Given the description of an element on the screen output the (x, y) to click on. 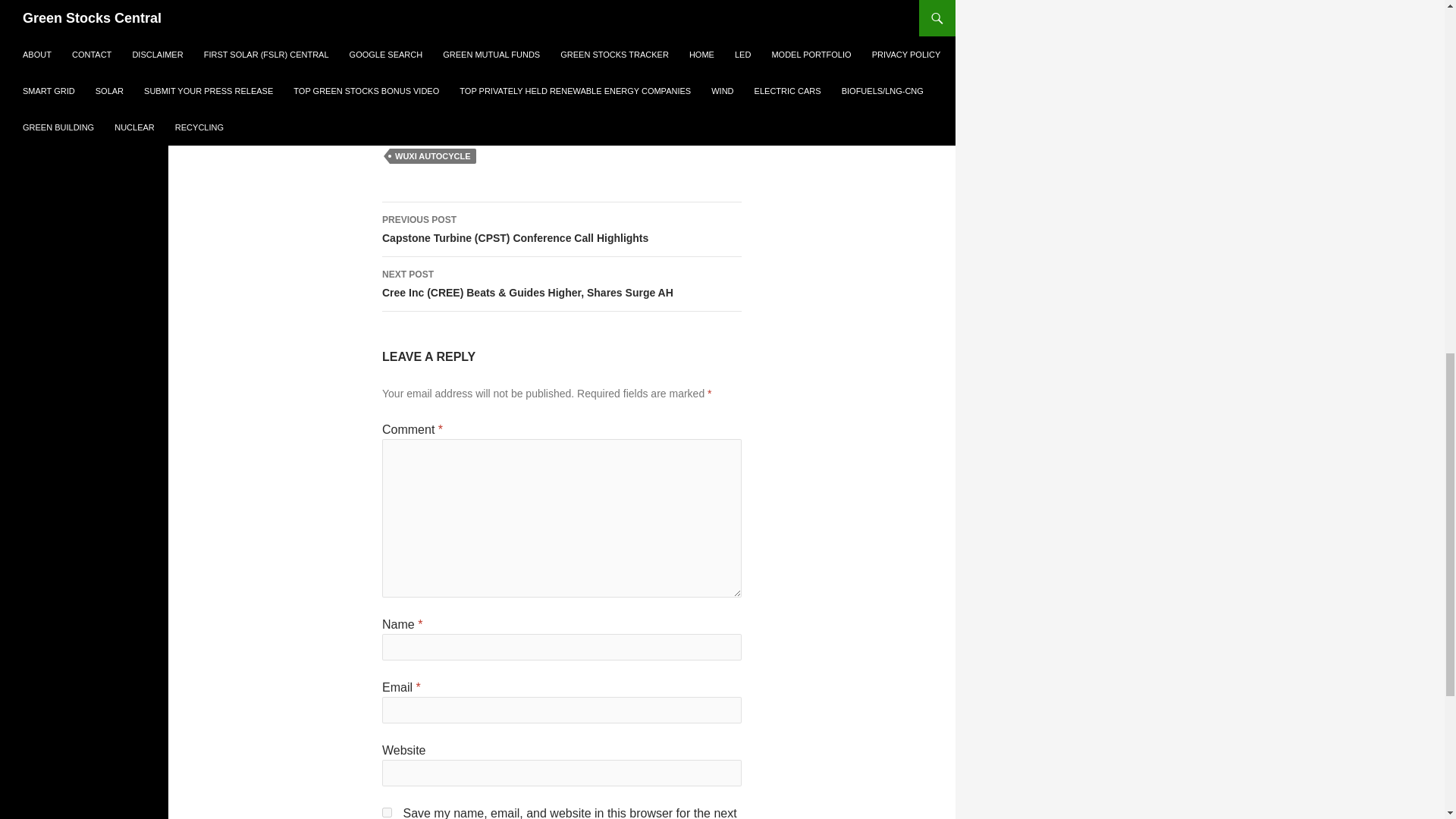
ABAT (406, 137)
WUXI AUTOCYCLE (433, 155)
ADVANCED BATTERY TECH (494, 137)
E-BIKE (586, 137)
yes (386, 812)
EARNINGS (643, 137)
